Given the description of an element on the screen output the (x, y) to click on. 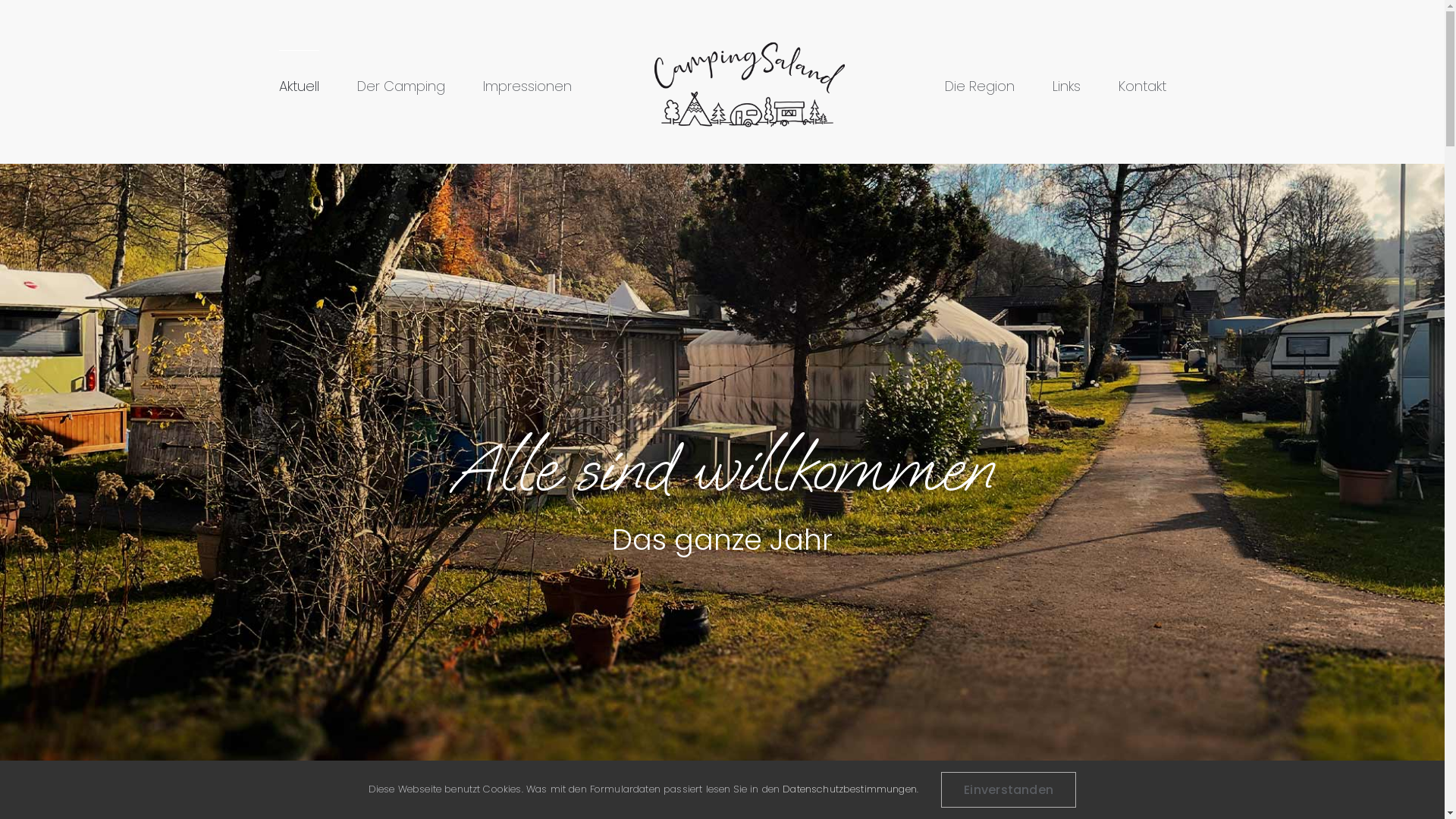
Impressionen Element type: text (526, 85)
Datenschutzbestimmungen Element type: text (849, 788)
1 Element type: text (704, 788)
3 Element type: text (739, 788)
Die Region Element type: text (979, 85)
Links Element type: text (1066, 85)
2 Element type: text (722, 788)
Einverstanden Element type: text (1008, 789)
Der Camping Element type: text (400, 85)
Aktuell Element type: text (299, 85)
Kontakt Element type: text (1141, 85)
